Given the description of an element on the screen output the (x, y) to click on. 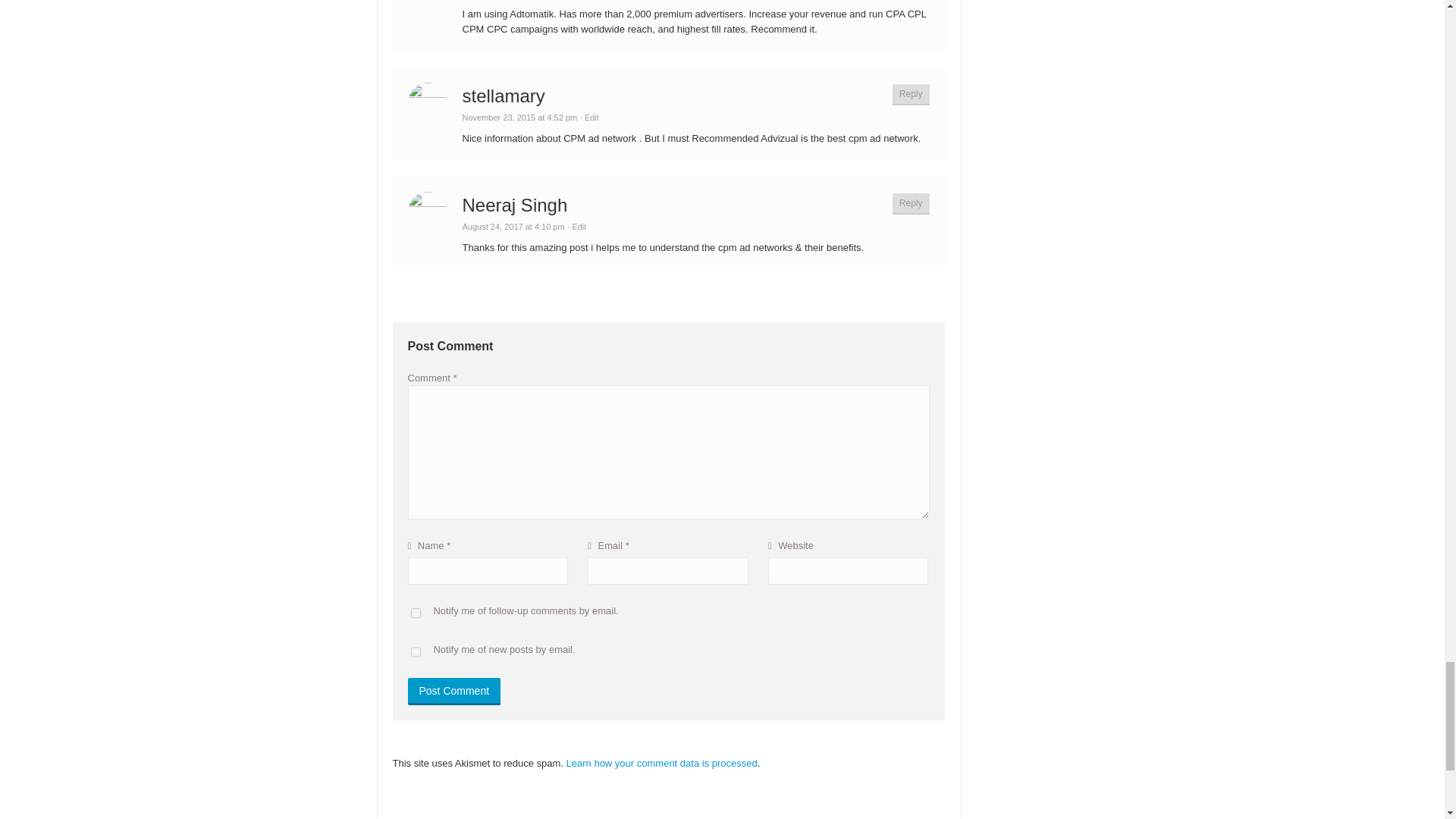
Post Comment (453, 691)
Monday, November 23, 2015, 4:52 pm (520, 117)
